Given the description of an element on the screen output the (x, y) to click on. 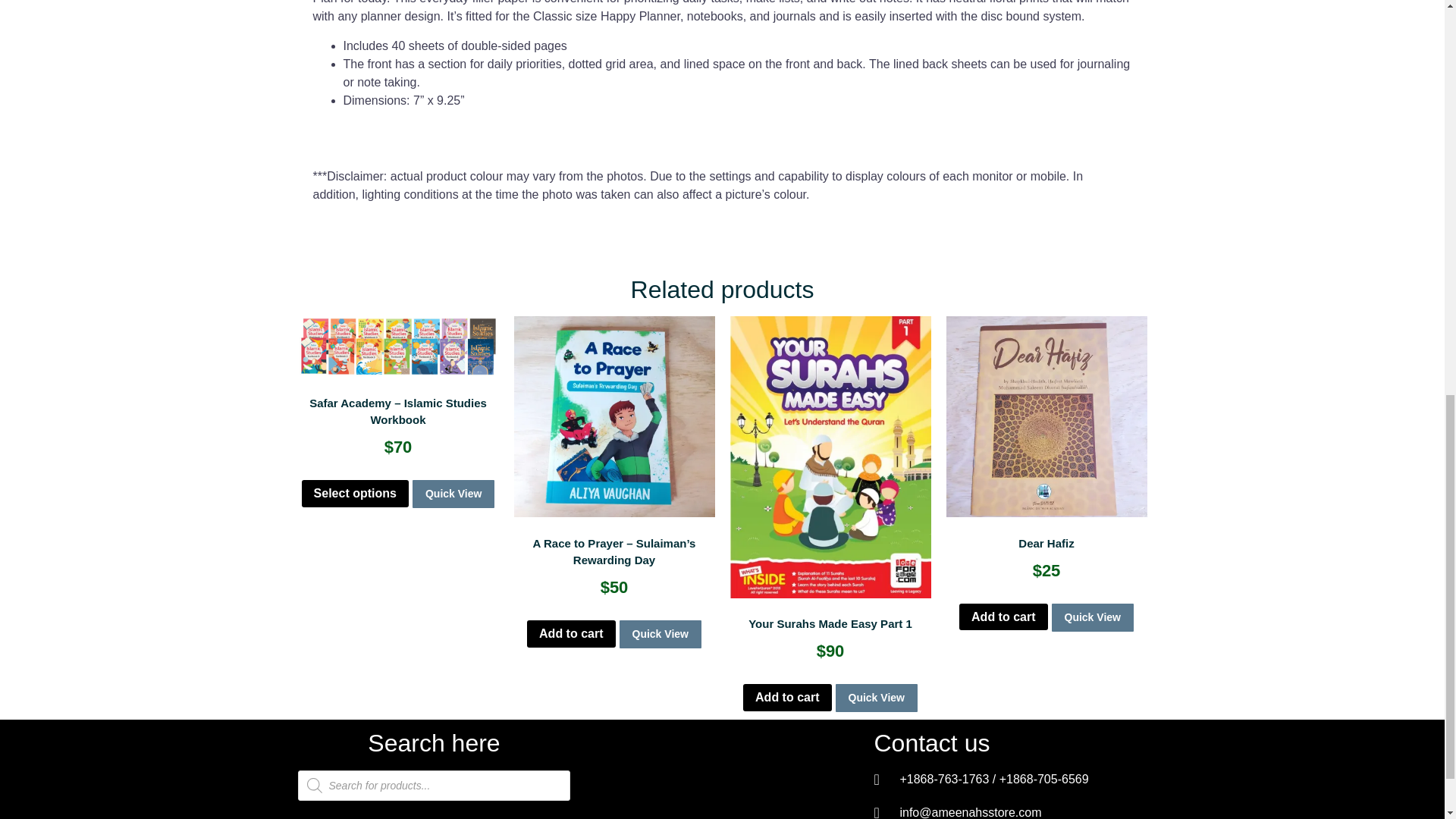
Quick View (659, 633)
Add to cart (570, 633)
Select options (355, 492)
Quick View (453, 493)
